Given the description of an element on the screen output the (x, y) to click on. 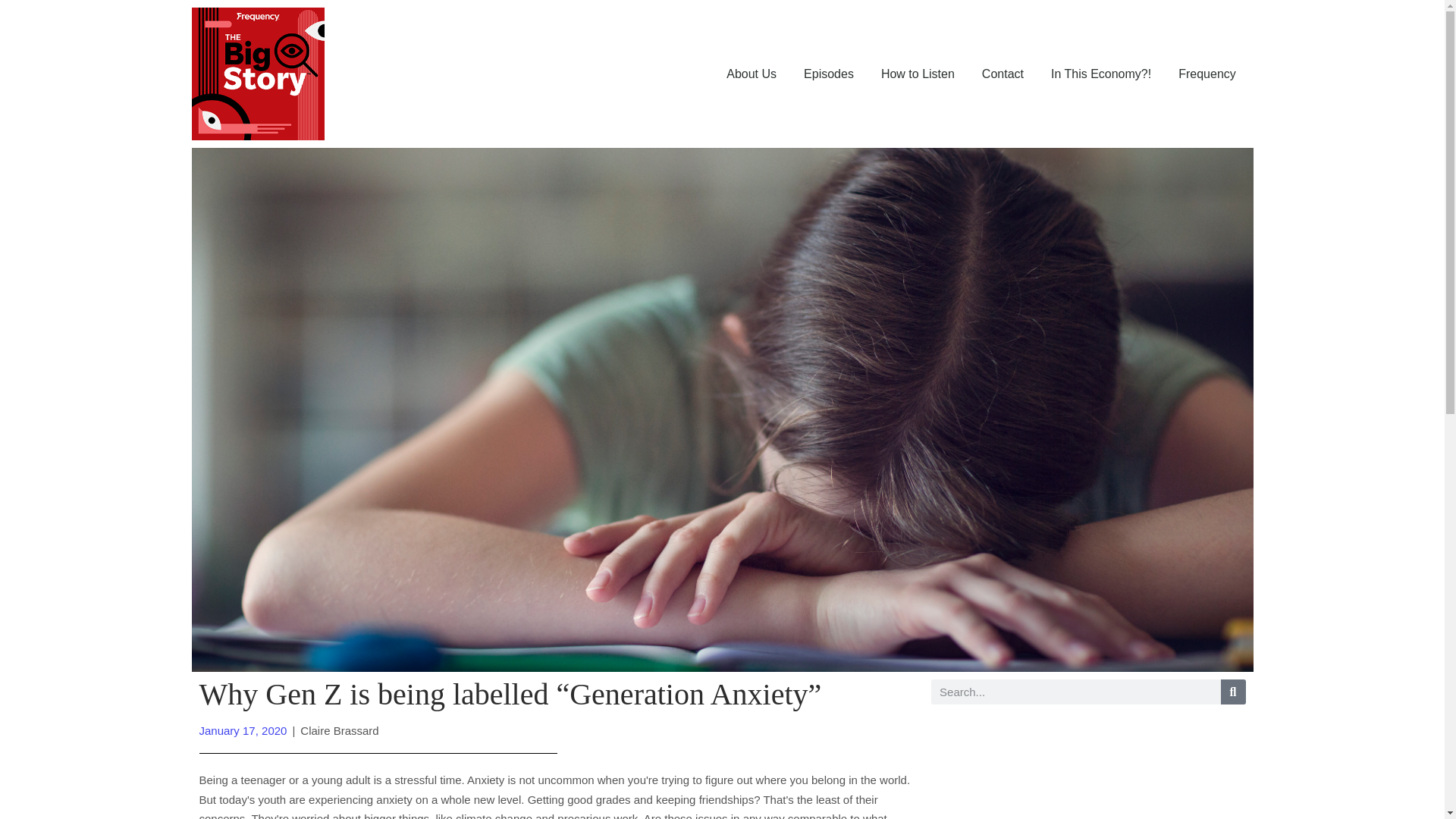
In This Economy?! (1100, 74)
9:00 AM (242, 730)
About Us (751, 74)
Frequency (1206, 74)
January 17, 2020 (242, 730)
9:00 AM (242, 730)
Episodes (828, 74)
Contact (1002, 74)
How to Listen (917, 74)
